Given the description of an element on the screen output the (x, y) to click on. 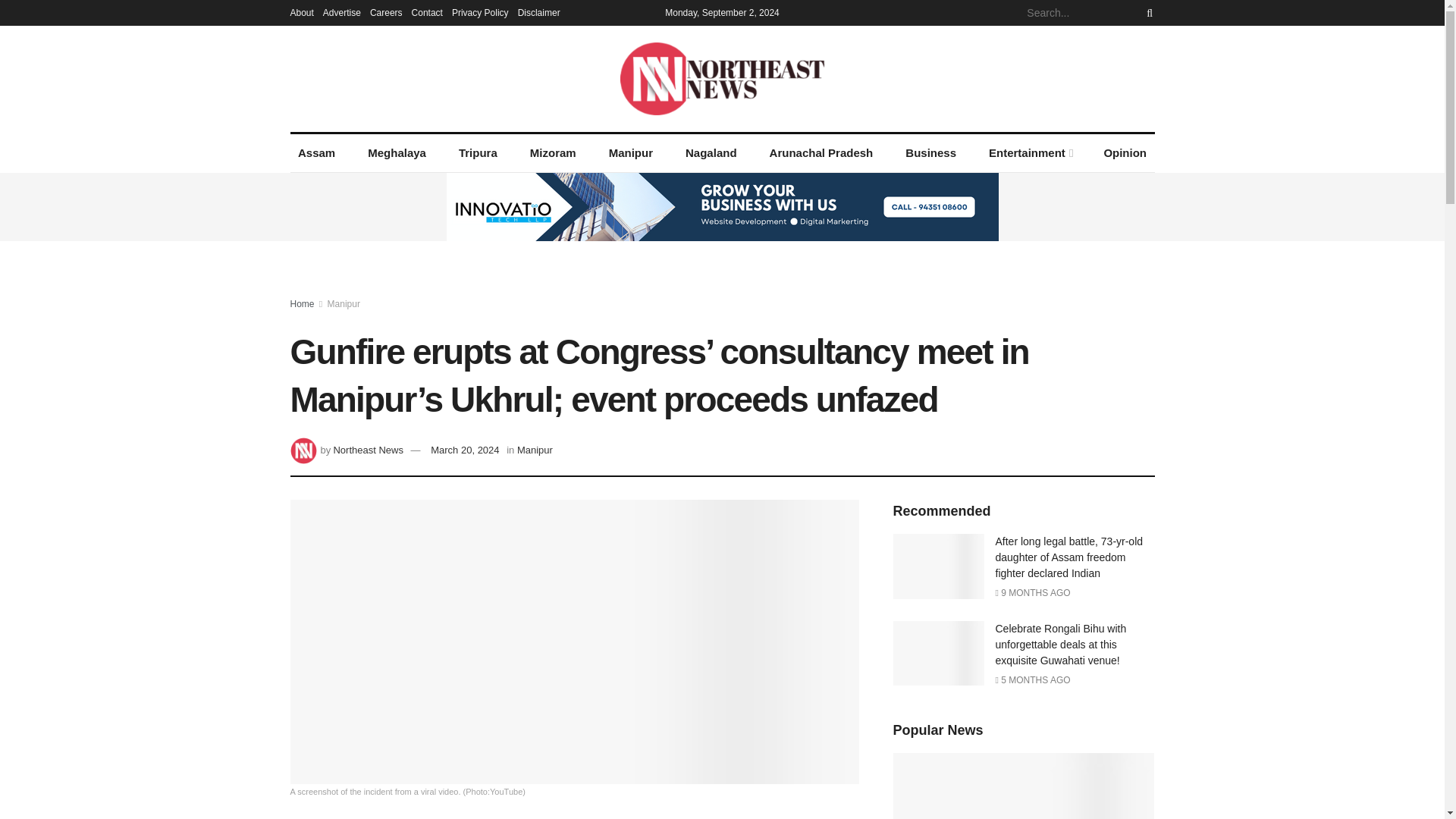
Tripura (477, 152)
Business (930, 152)
Manipur (630, 152)
Meghalaya (396, 152)
Disclaimer (539, 12)
Nagaland (711, 152)
About (301, 12)
Contact (427, 12)
Privacy Policy (479, 12)
Careers (386, 12)
